Given the description of an element on the screen output the (x, y) to click on. 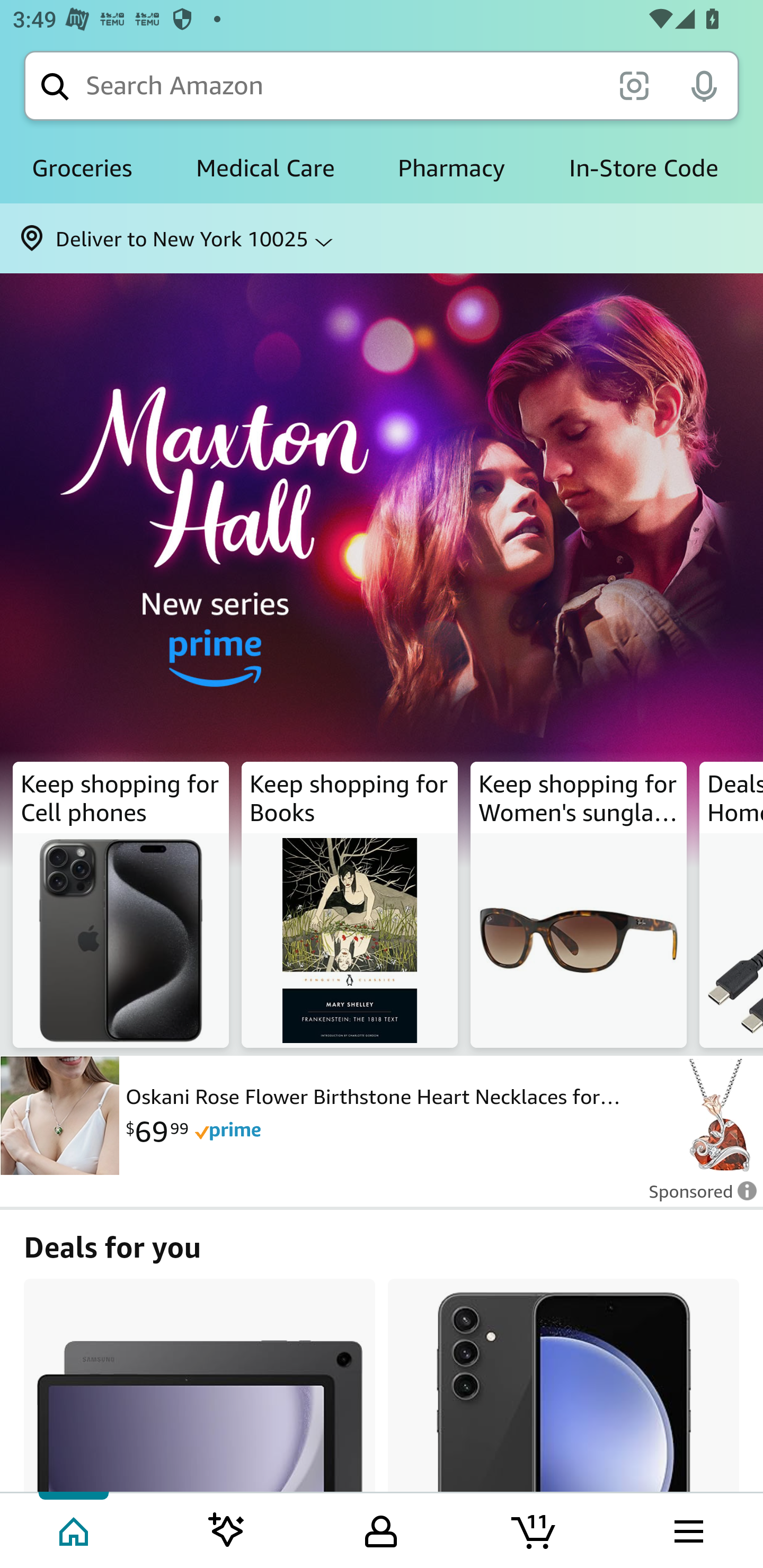
scan it (633, 85)
Groceries (82, 168)
Medical Care (265, 168)
Pharmacy (451, 168)
In-Store Code (643, 168)
Deliver to New York 10025 ⌵ (381, 237)
Keep shopping for Books Keep shopping for Books (349, 904)
Leave feedback on Sponsored ad Sponsored  (696, 1196)
Home Tab 1 of 5 (75, 1529)
Inspire feed Tab 2 of 5 (227, 1529)
Your Amazon.com Tab 3 of 5 (380, 1529)
Cart 11 items Tab 4 of 5 11 (534, 1529)
